Given the description of an element on the screen output the (x, y) to click on. 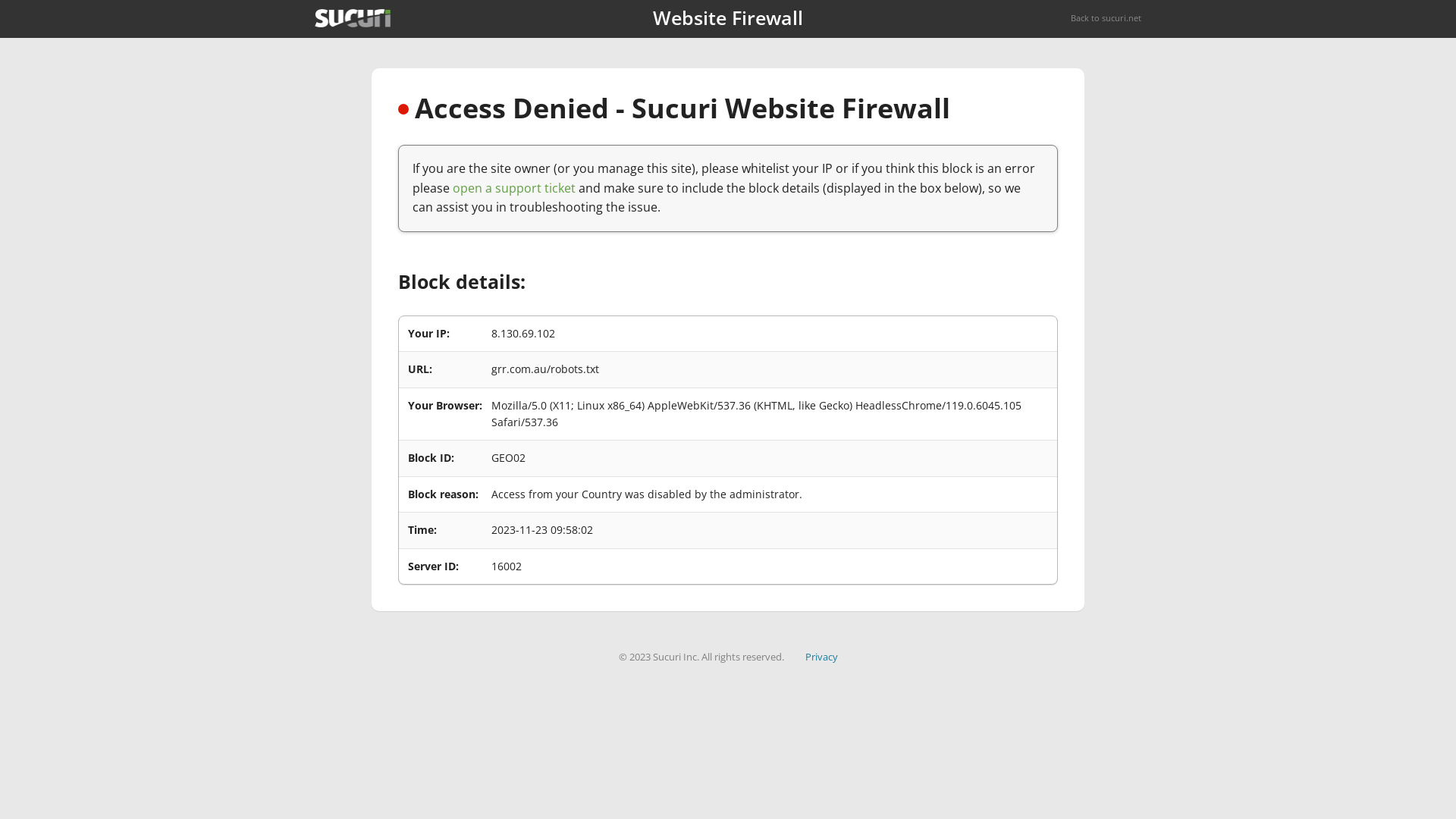
Privacy Element type: text (821, 656)
open a support ticket Element type: text (513, 187)
Back to sucuri.net Element type: text (1105, 18)
